Given the description of an element on the screen output the (x, y) to click on. 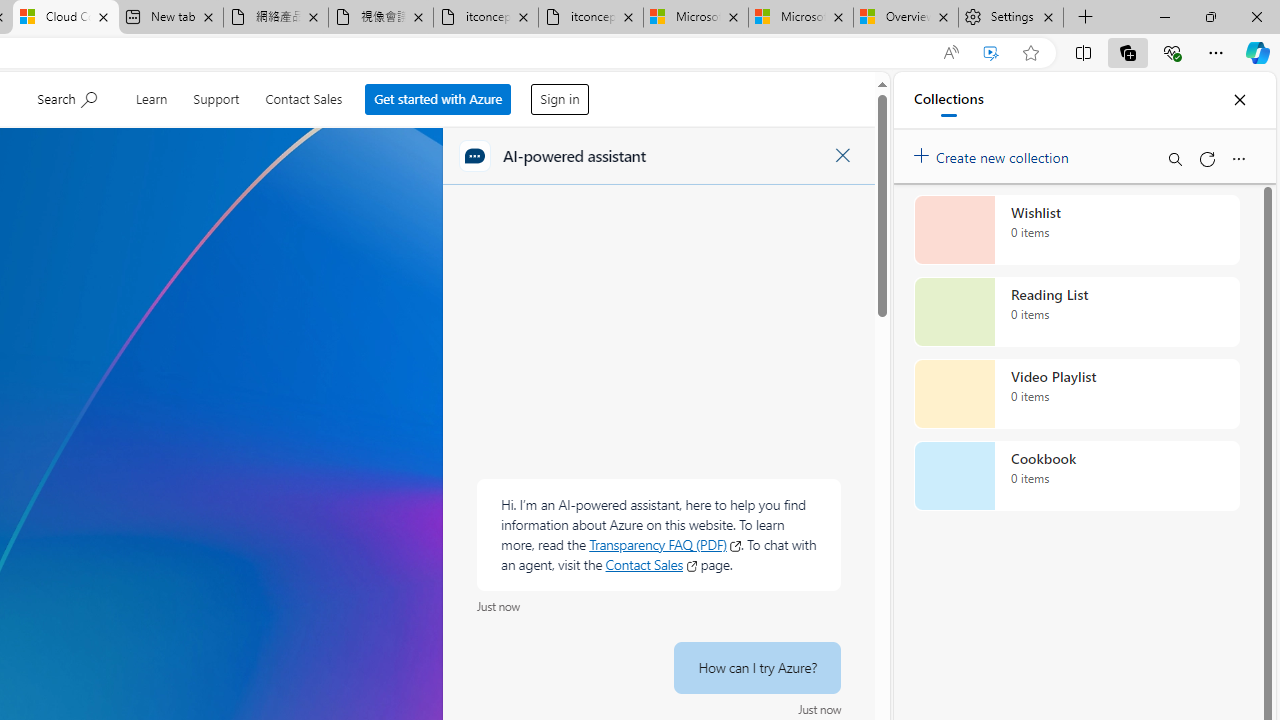
Get started with Azure (438, 99)
Opens in a new window; external. (691, 565)
Contact Sales Opens in a new window; external. (651, 565)
Create new collection (994, 153)
Get started with Azure (438, 93)
Cookbook collection, 0 items (1076, 475)
Reading List collection, 0 items (1076, 312)
Enhance video (991, 53)
More options menu (1238, 158)
